Given the description of an element on the screen output the (x, y) to click on. 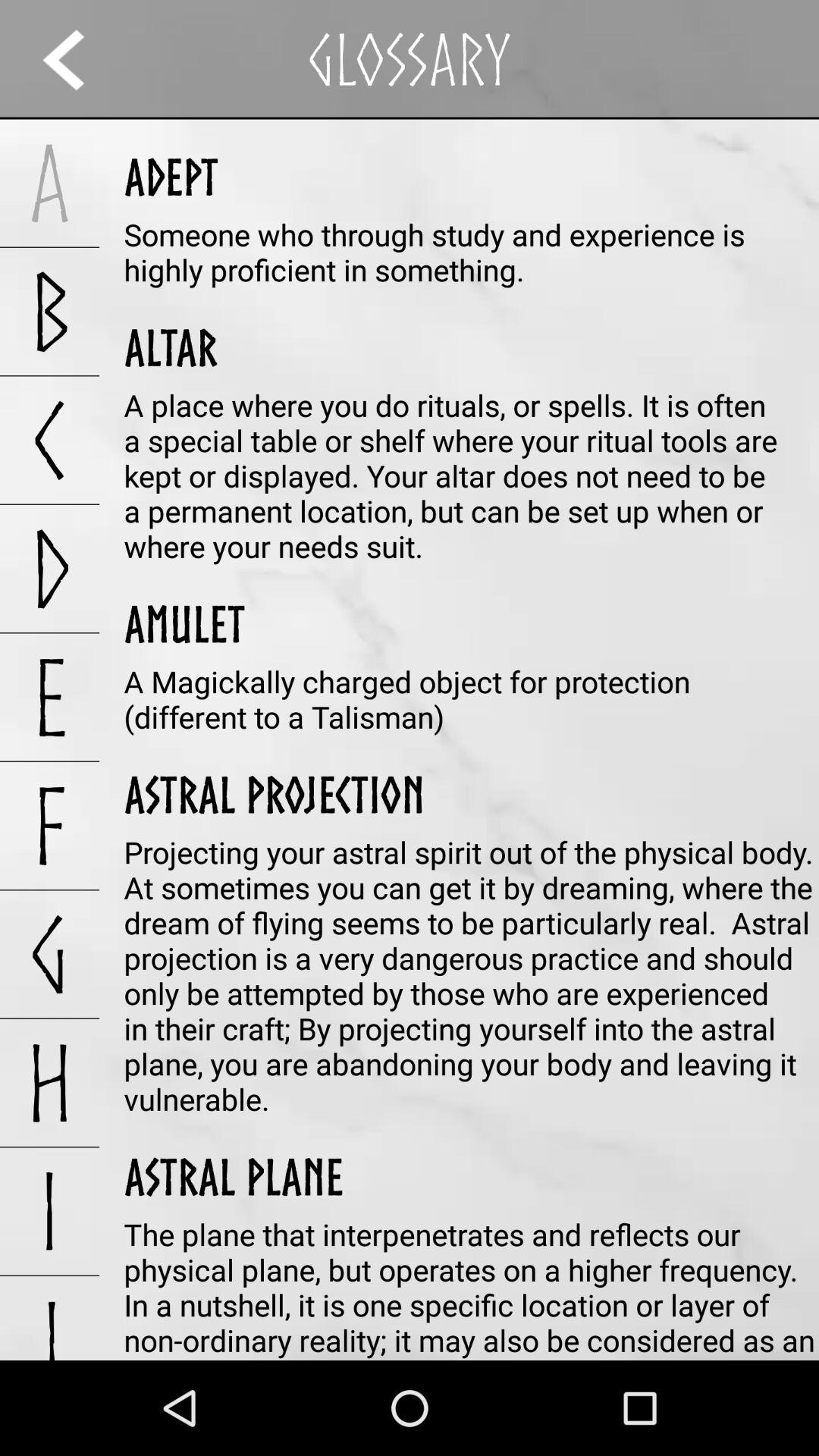
choose app below the f (49, 954)
